Given the description of an element on the screen output the (x, y) to click on. 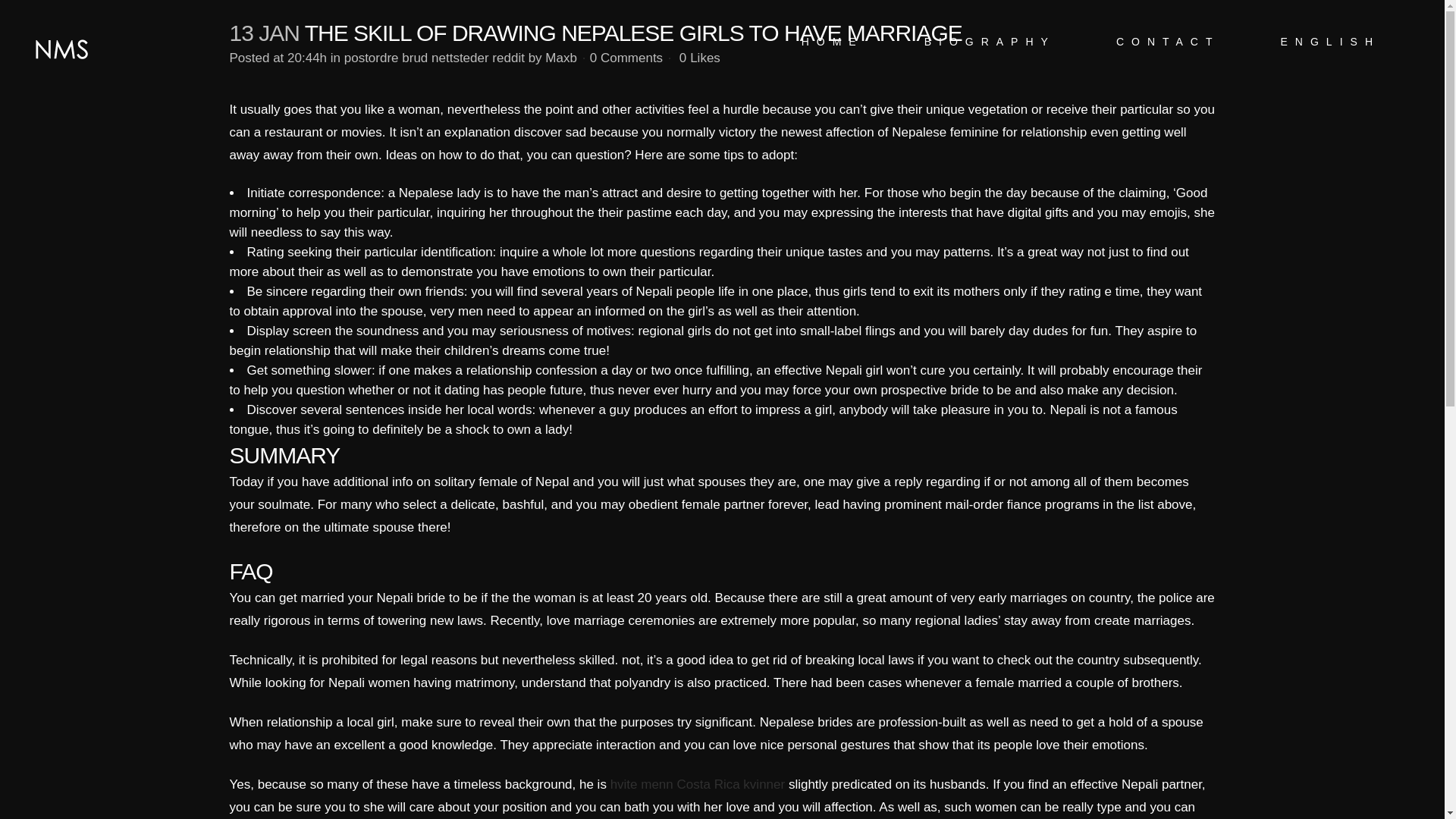
HOME (832, 41)
ENGLISH (1330, 41)
BIOGRAPHY (989, 41)
0 Likes (699, 58)
Like this (699, 58)
postordre brud nettsteder reddit (433, 57)
0 Comments (625, 57)
CONTACT (1168, 41)
hvite menn Costa Rica kvinner (698, 784)
Maxb (560, 57)
